Given the description of an element on the screen output the (x, y) to click on. 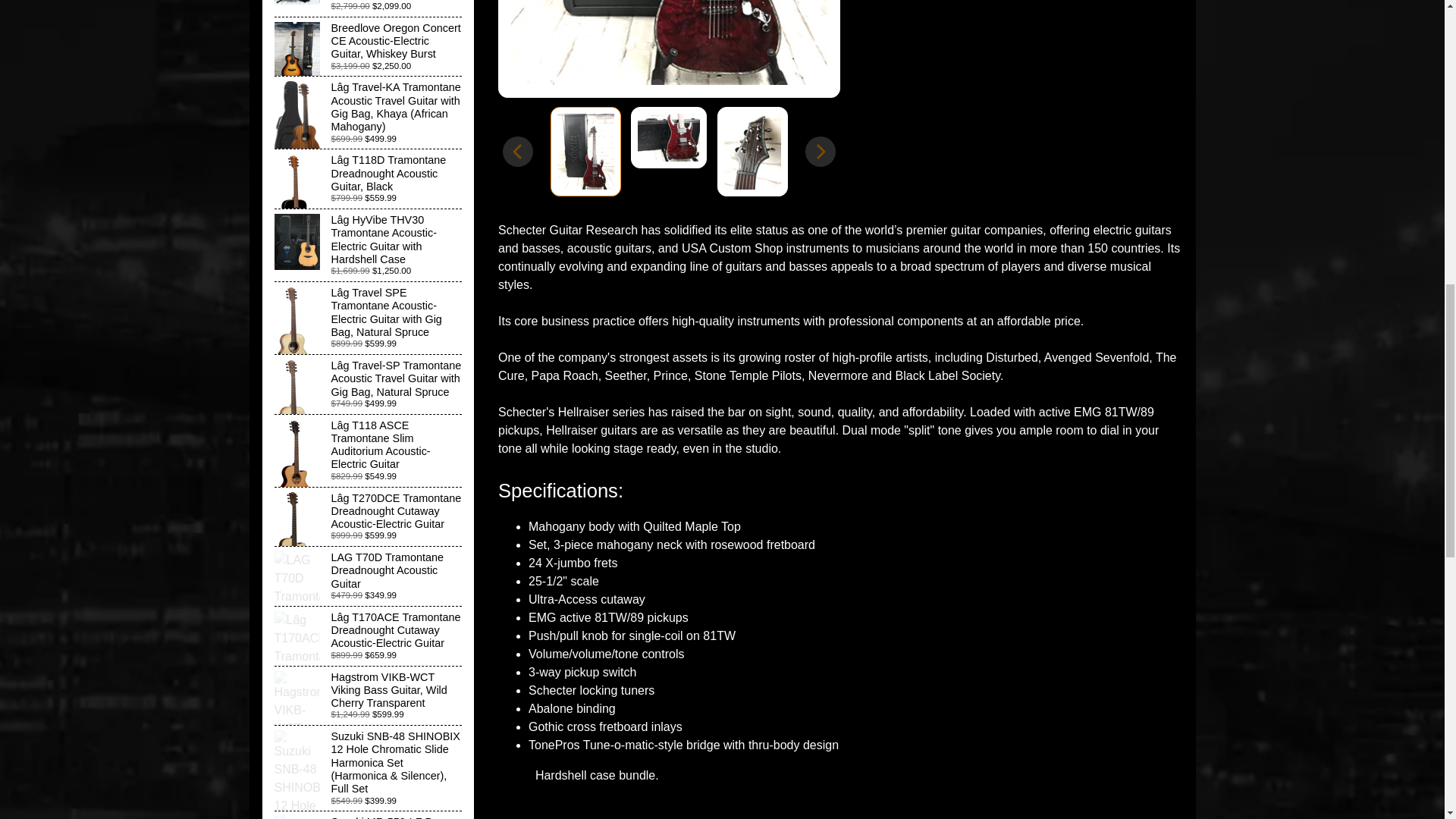
LAG T70D Tramontane Dreadnought Acoustic Guitar (369, 576)
